Given the description of an element on the screen output the (x, y) to click on. 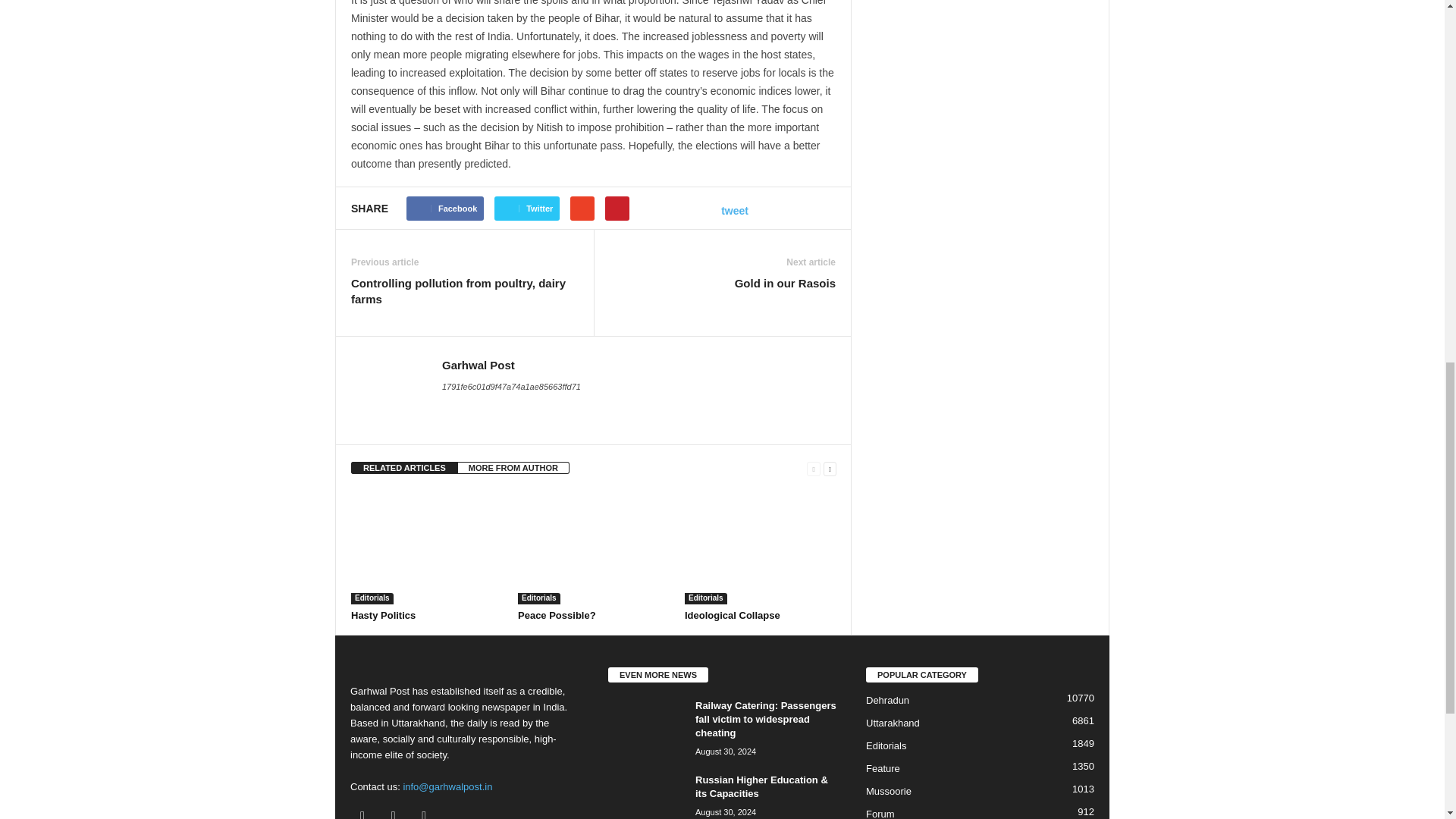
Peace Possible? (556, 614)
Ideological Collapse (732, 614)
Twitter (396, 814)
Youtube (425, 814)
Facebook (365, 814)
Ideological Collapse (759, 547)
Peace Possible? (593, 547)
Hasty Politics (426, 547)
Hasty Politics (382, 614)
